Given the description of an element on the screen output the (x, y) to click on. 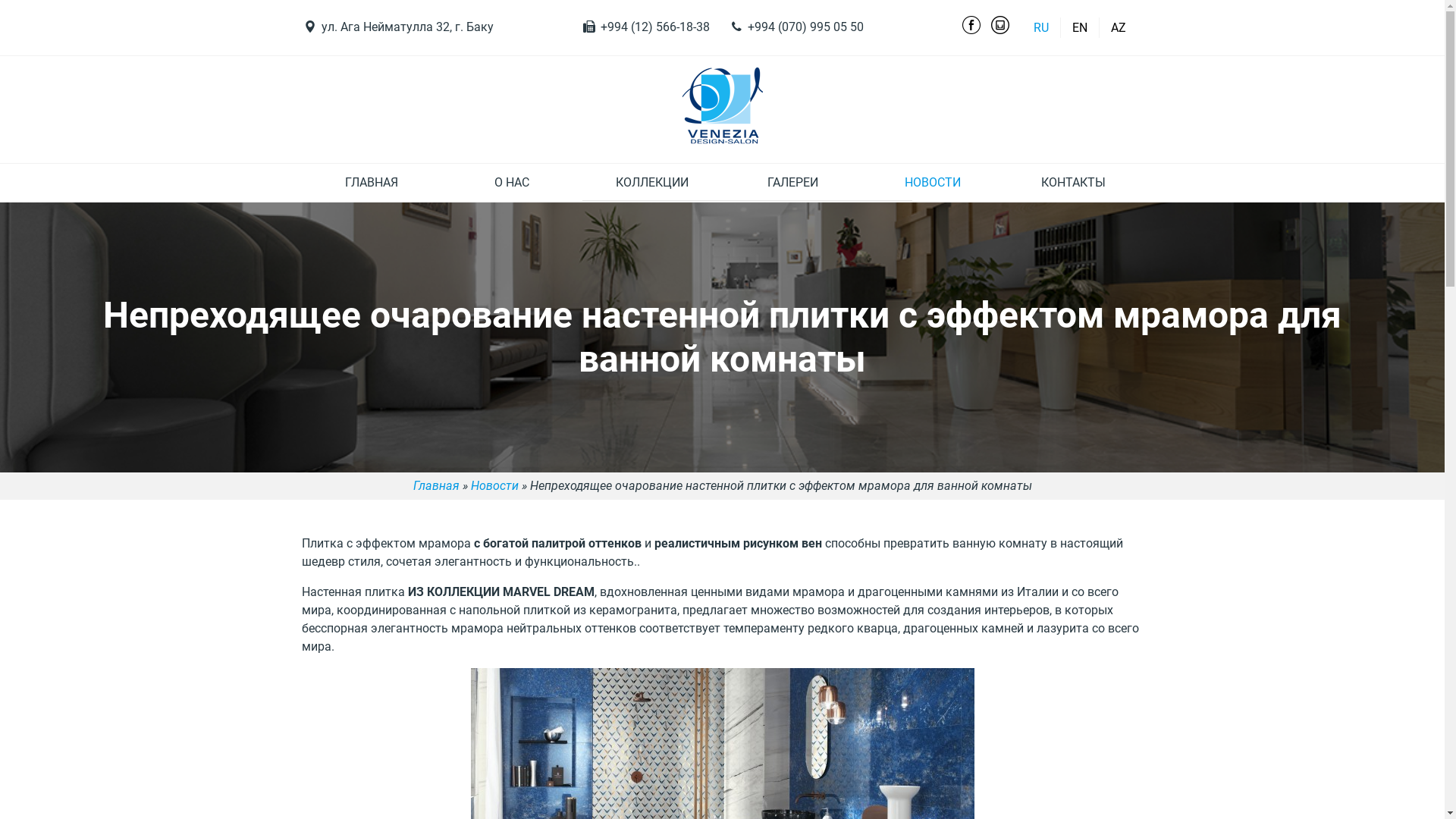
EN Element type: text (1079, 27)
AZ Element type: text (1117, 27)
RU Element type: text (1040, 27)
